Given the description of an element on the screen output the (x, y) to click on. 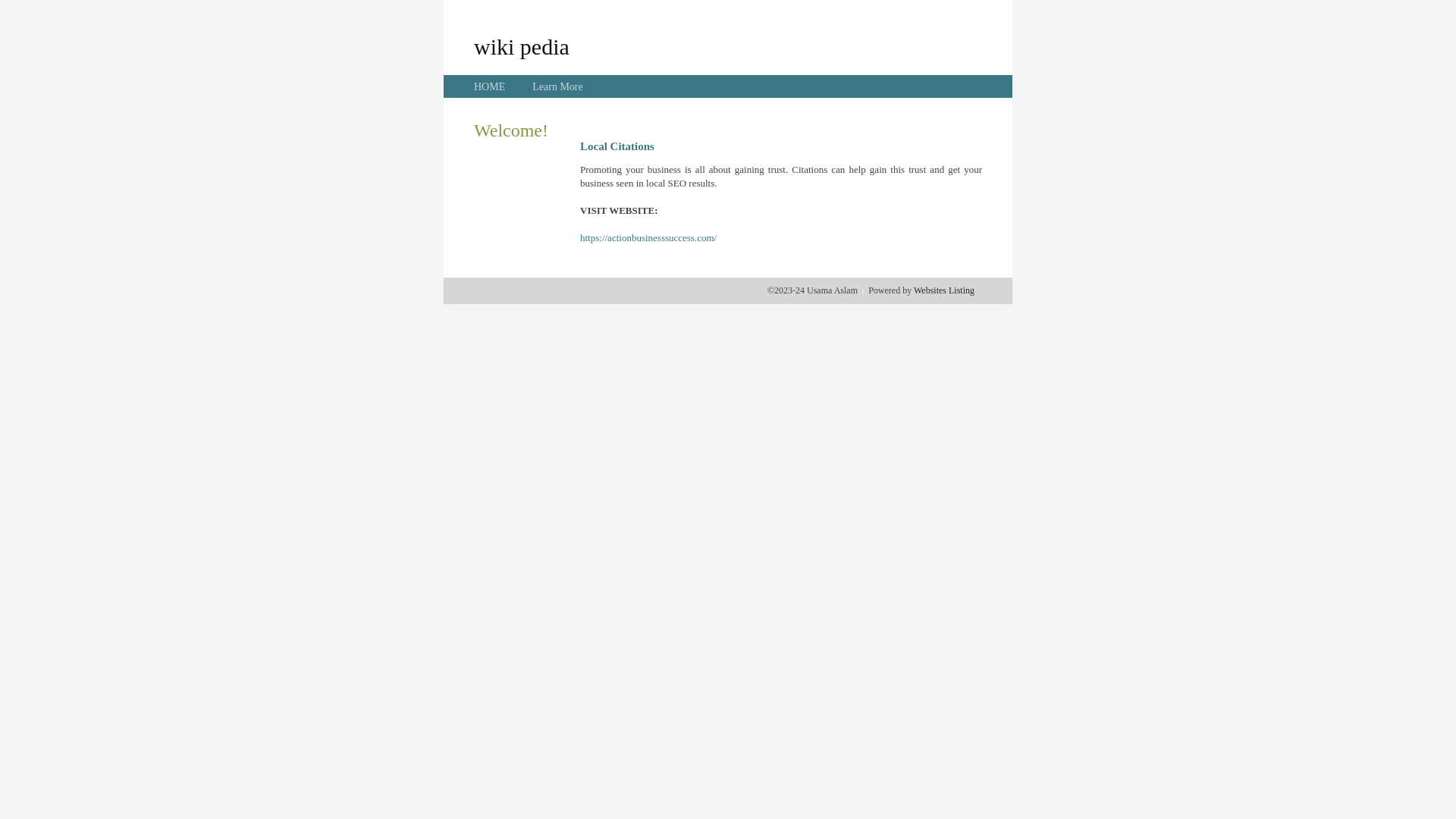
Learn More Element type: text (557, 86)
HOME Element type: text (489, 86)
https://actionbusinesssuccess.com/ Element type: text (648, 237)
Websites Listing Element type: text (943, 290)
wiki pedia Element type: text (521, 46)
